Given the description of an element on the screen output the (x, y) to click on. 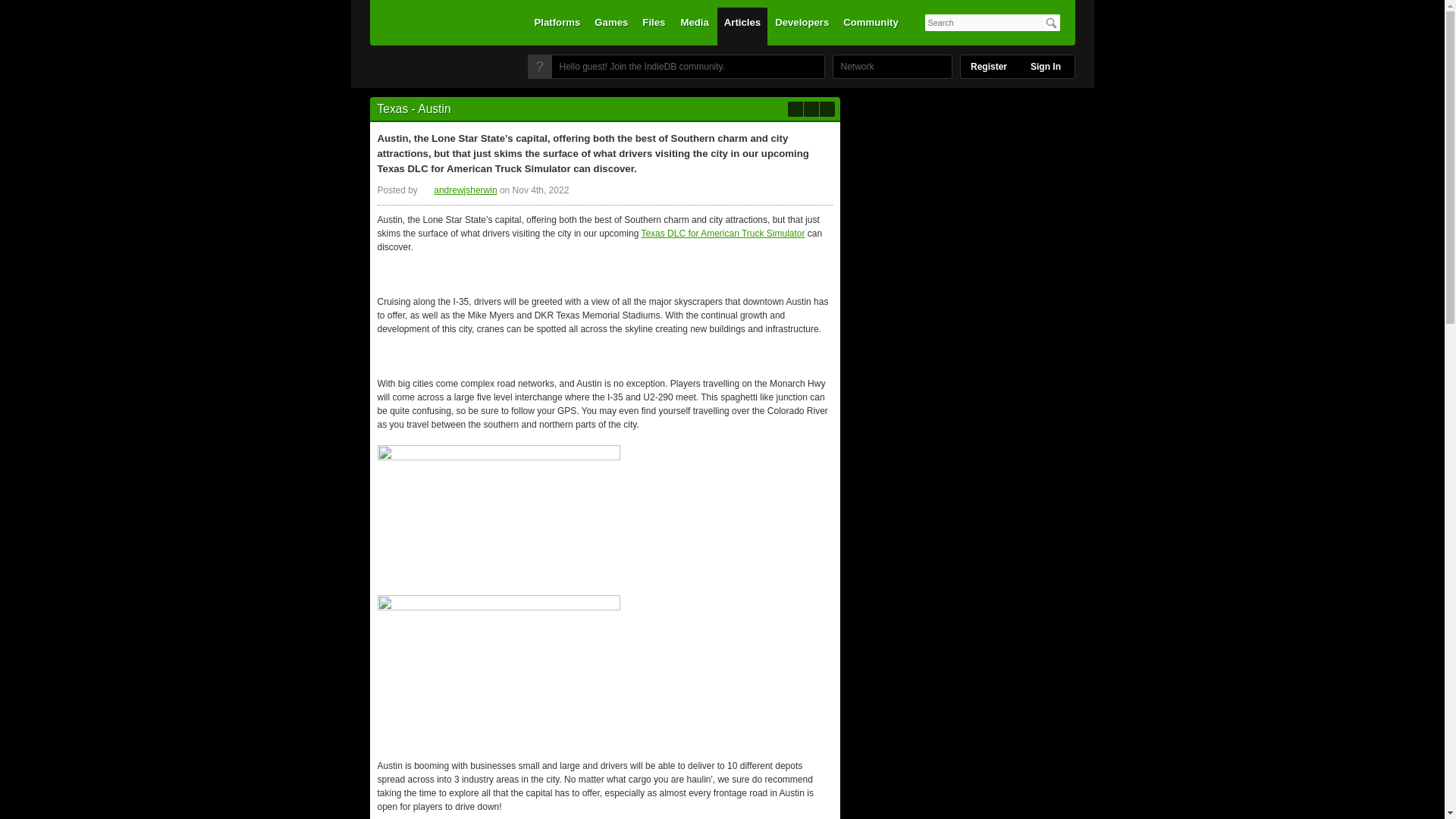
Platforms (557, 26)
Community (870, 26)
Developers (801, 26)
Post news (794, 109)
Home (430, 70)
Files (652, 26)
Media (694, 26)
Articles (742, 26)
Games (611, 26)
Search IndieDB (1050, 22)
